Given the description of an element on the screen output the (x, y) to click on. 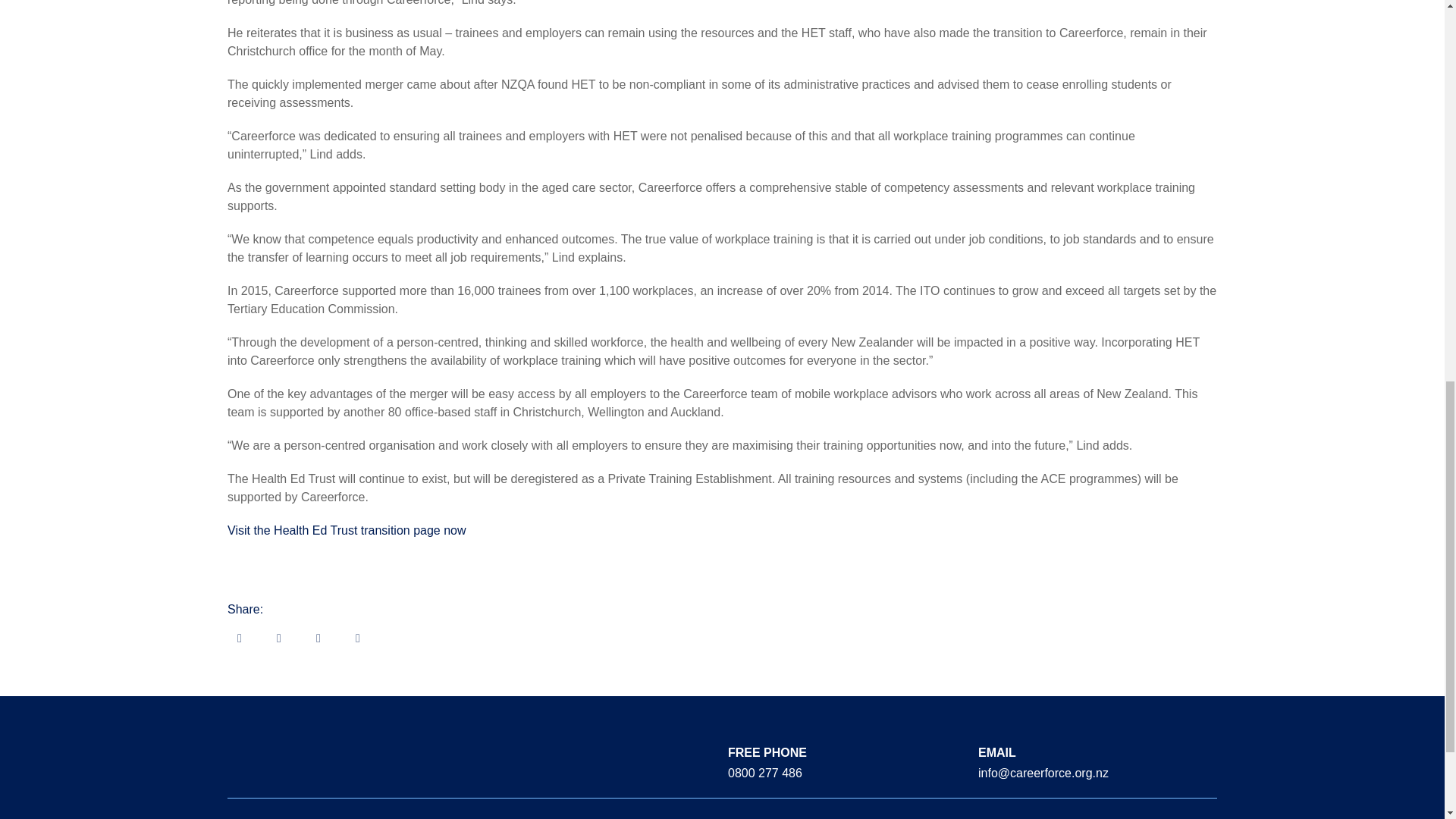
Linked In (357, 636)
Twitter (317, 636)
E-Mail (239, 636)
Facebook (278, 636)
